Given the description of an element on the screen output the (x, y) to click on. 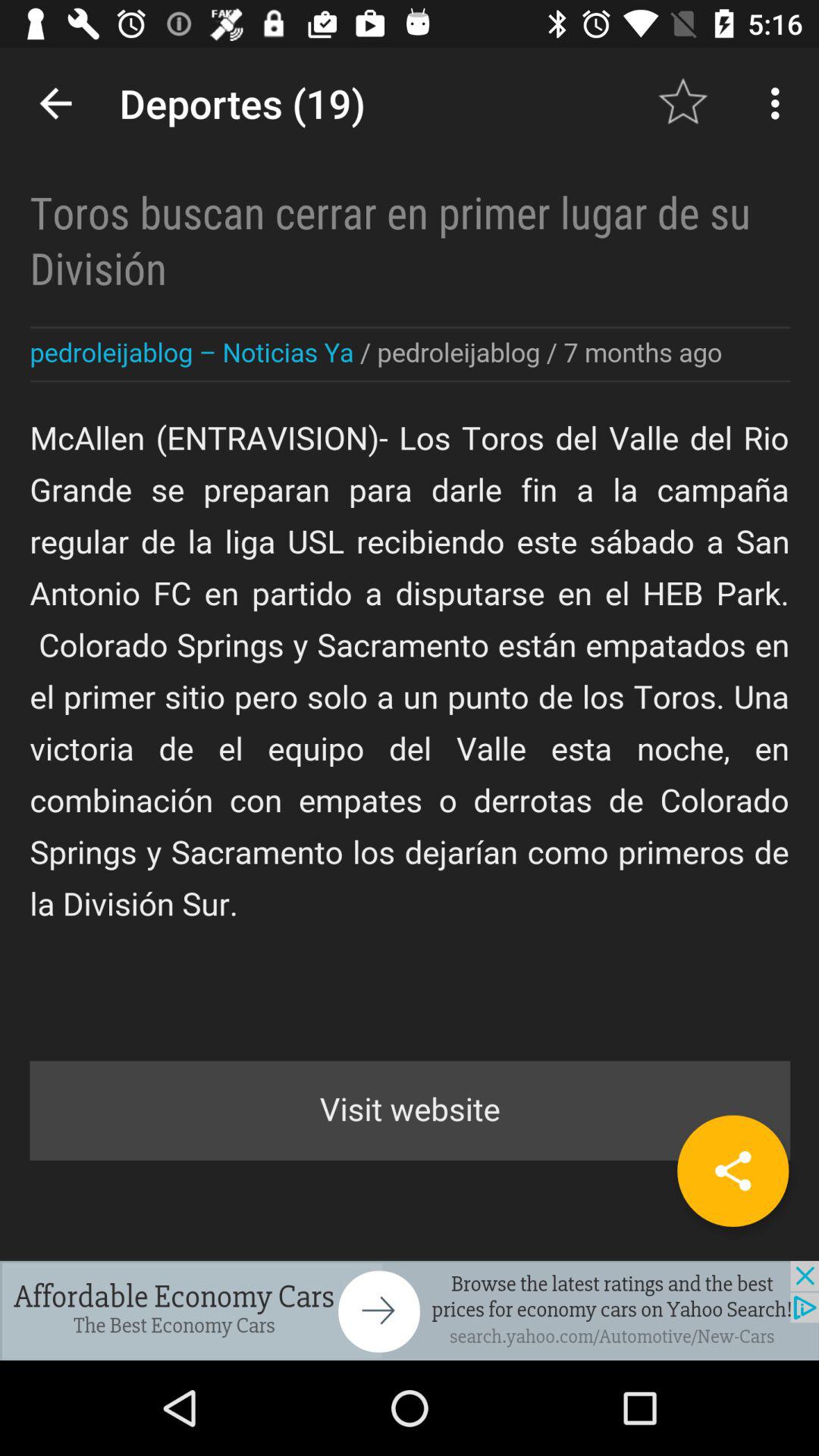
share the article (733, 1171)
